Given the description of an element on the screen output the (x, y) to click on. 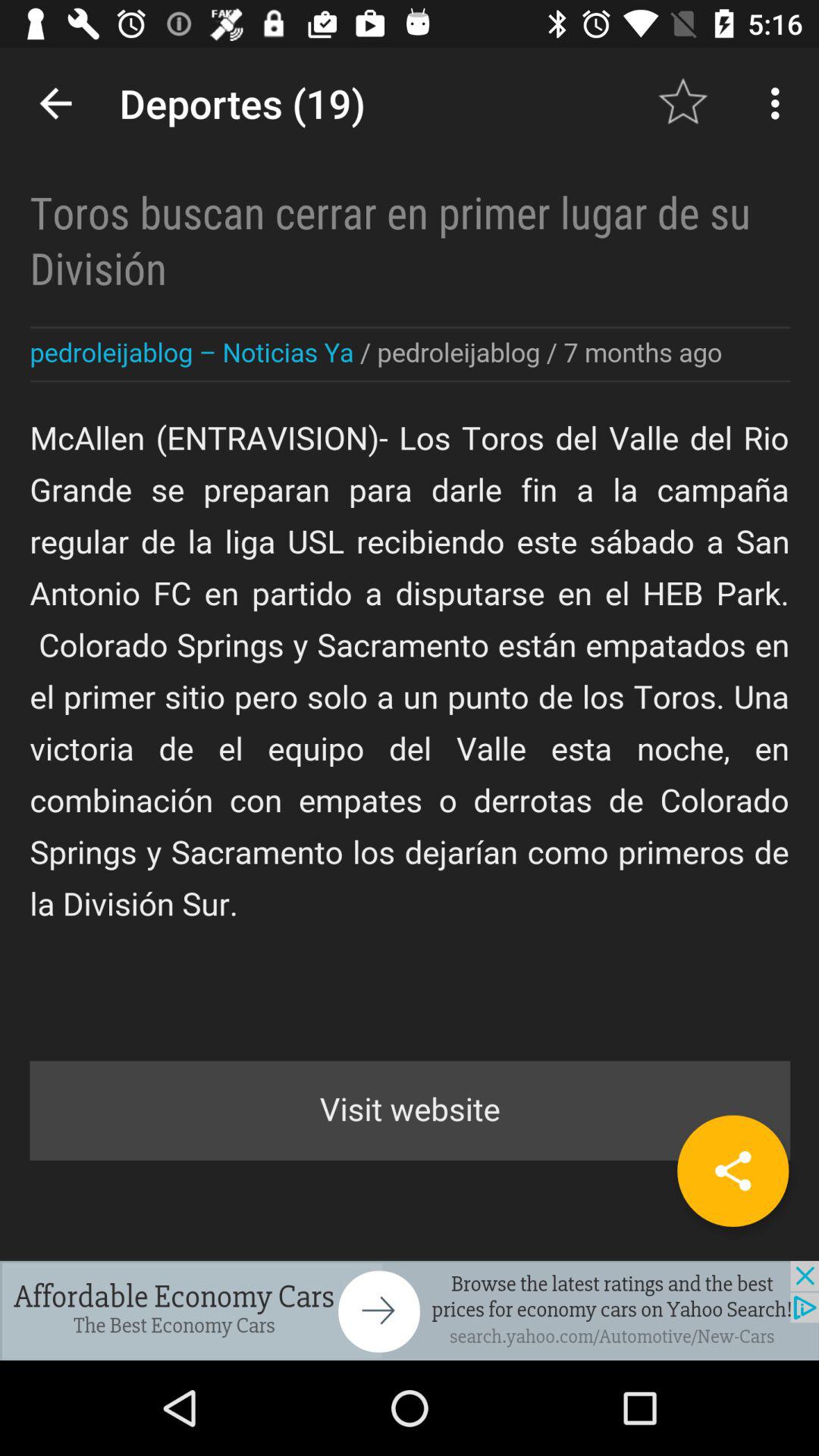
share the article (733, 1171)
